Given the description of an element on the screen output the (x, y) to click on. 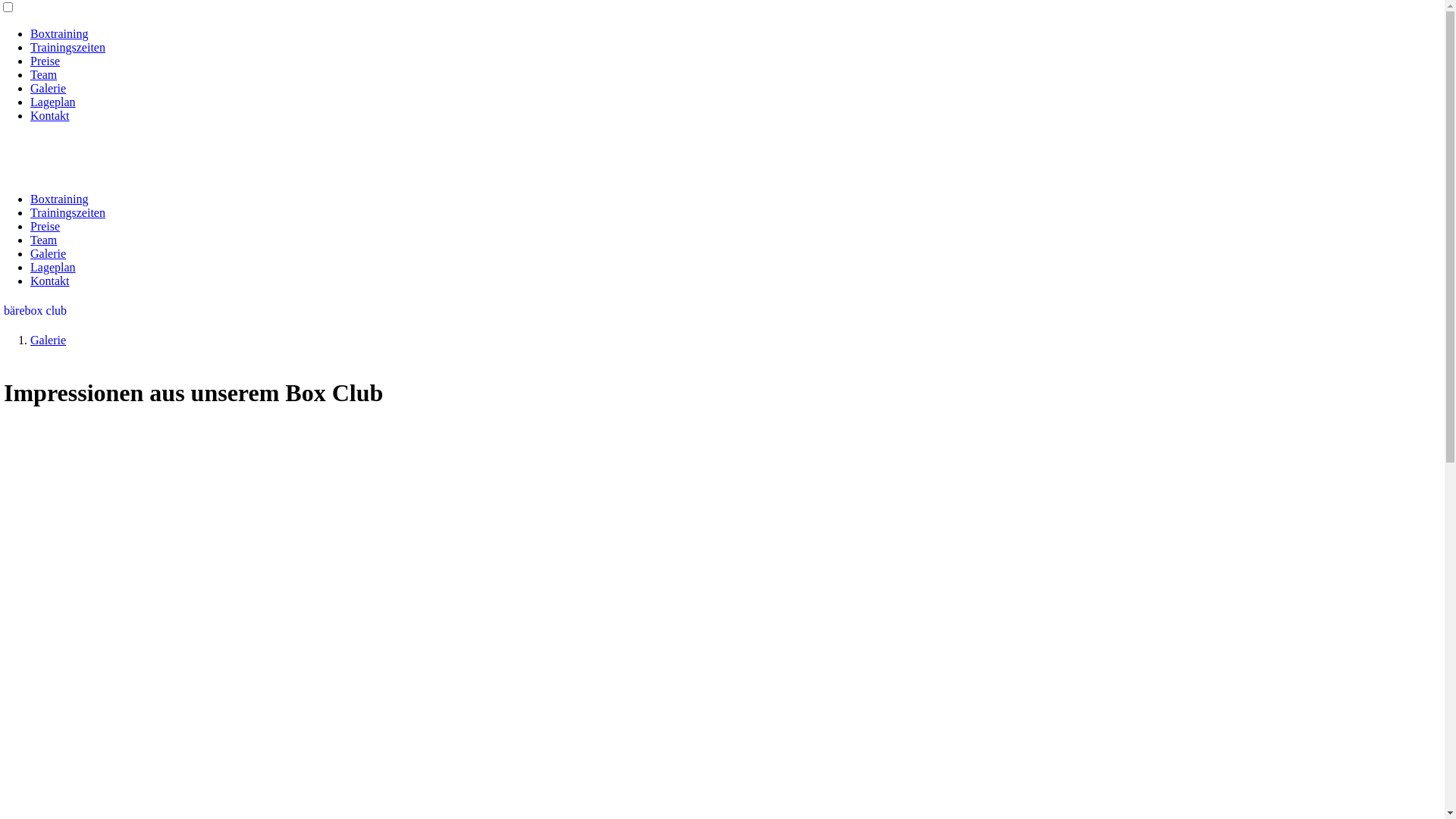
Boxtraining Element type: text (58, 198)
Kontakt Element type: text (49, 280)
Preise Element type: text (44, 225)
Galerie Element type: text (47, 253)
Team Element type: text (43, 239)
Lageplan Element type: text (52, 266)
Kontakt Element type: text (49, 115)
Trainingszeiten Element type: text (67, 212)
Lageplan Element type: text (52, 101)
Team Element type: text (43, 74)
Boxtraining Element type: text (58, 33)
Galerie Element type: text (47, 339)
Galerie Element type: text (47, 87)
Trainingszeiten Element type: text (67, 46)
Preise Element type: text (44, 60)
